Given the description of an element on the screen output the (x, y) to click on. 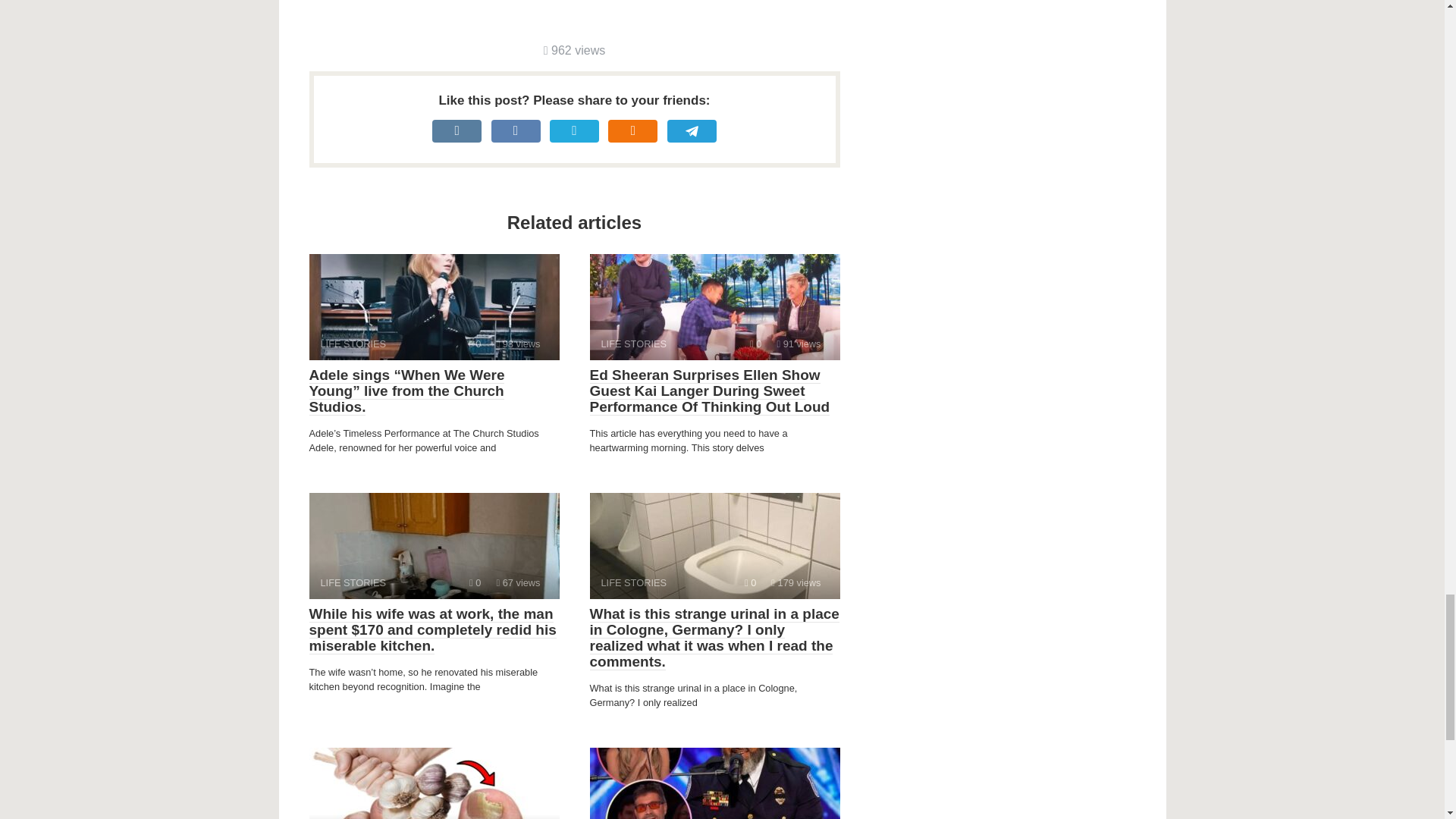
Views (714, 545)
Comments (714, 306)
Views (796, 582)
Views (474, 343)
Views (518, 343)
Comments (433, 306)
Comments (574, 50)
